Given the description of an element on the screen output the (x, y) to click on. 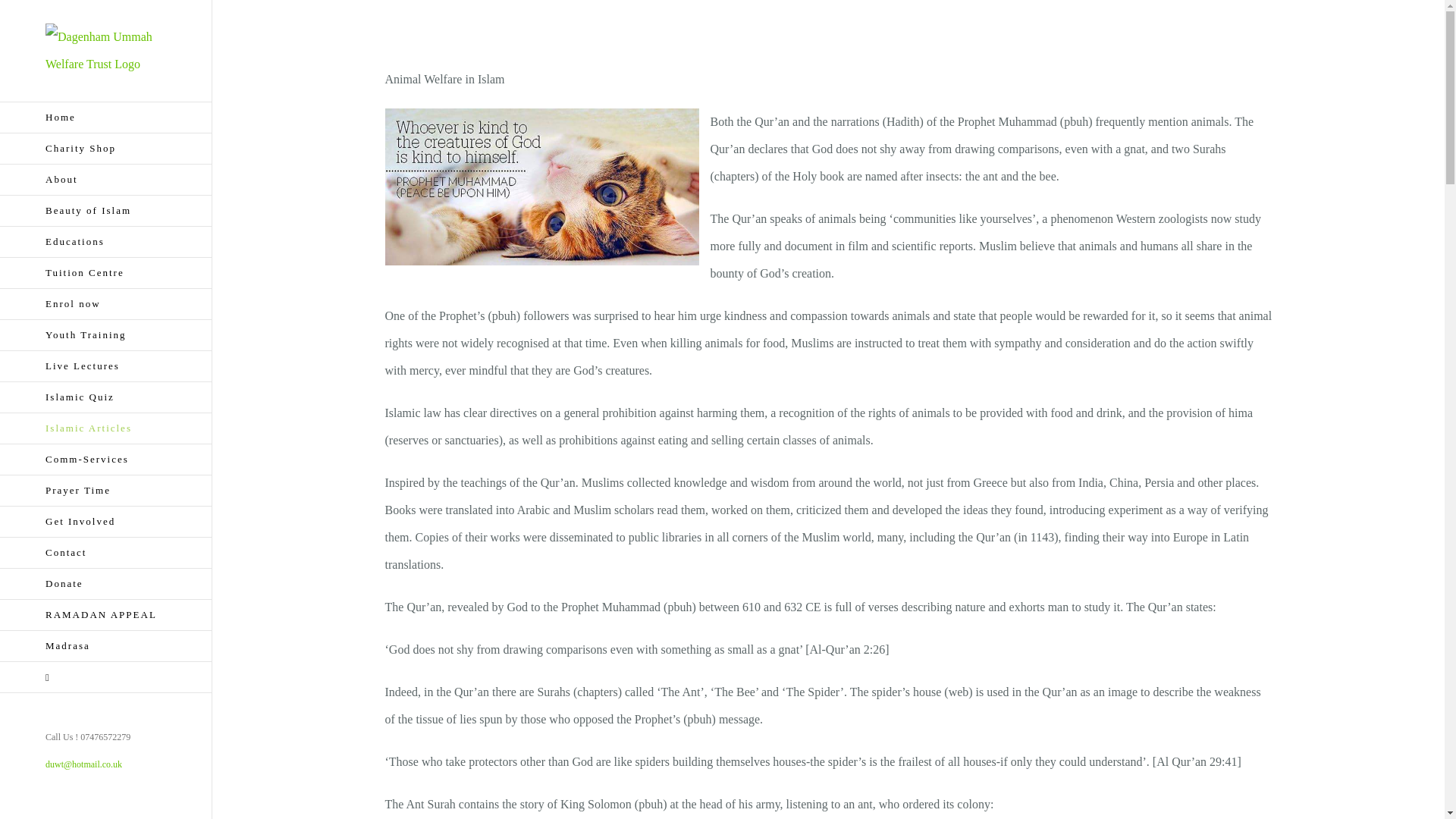
Islamic Quiz (106, 397)
Islamic Articles (106, 428)
Home (106, 117)
Tuition Centre (106, 273)
Enrol now (106, 304)
Comm-Services (106, 459)
Charity Shop (106, 148)
Beauty of Islam (106, 210)
Live Lectures (106, 366)
Youth Training (106, 335)
Educations (106, 241)
About (106, 179)
